Given the description of an element on the screen output the (x, y) to click on. 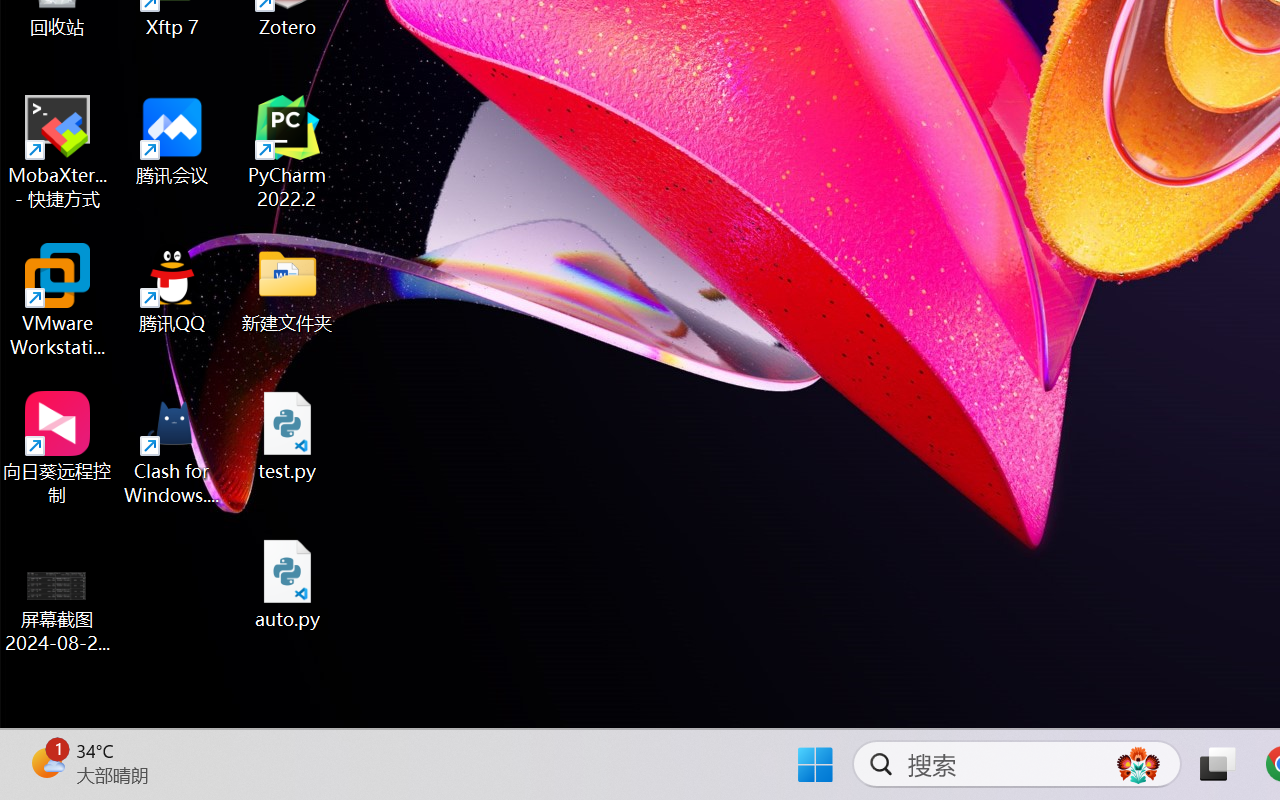
test.py (287, 436)
PyCharm 2022.2 (287, 152)
